Given the description of an element on the screen output the (x, y) to click on. 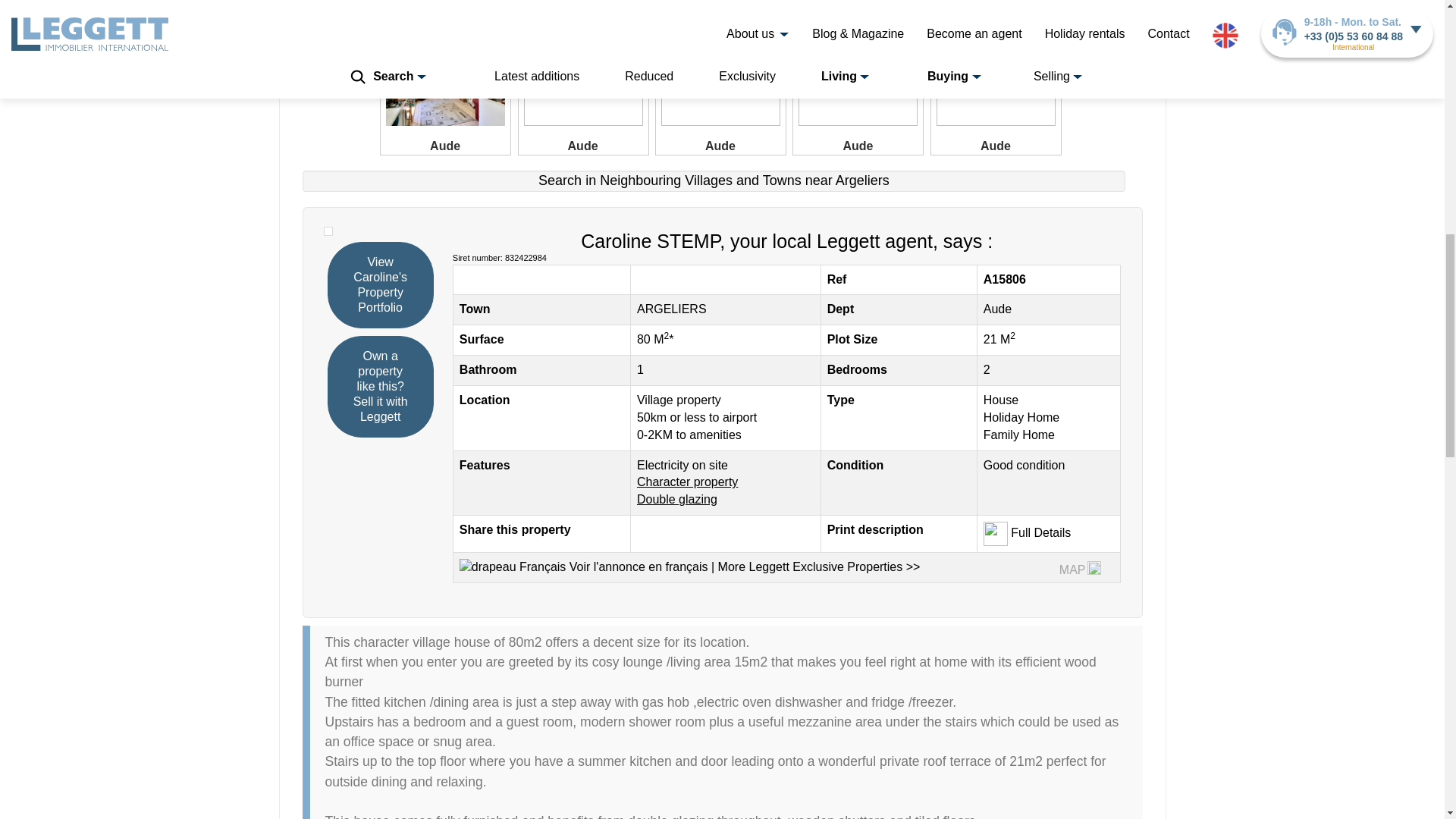
Locate Argeliers in google map (1093, 567)
Locate  (862, 180)
More exclusive: (815, 566)
more properties in Argeliers (671, 308)
